Given the description of an element on the screen output the (x, y) to click on. 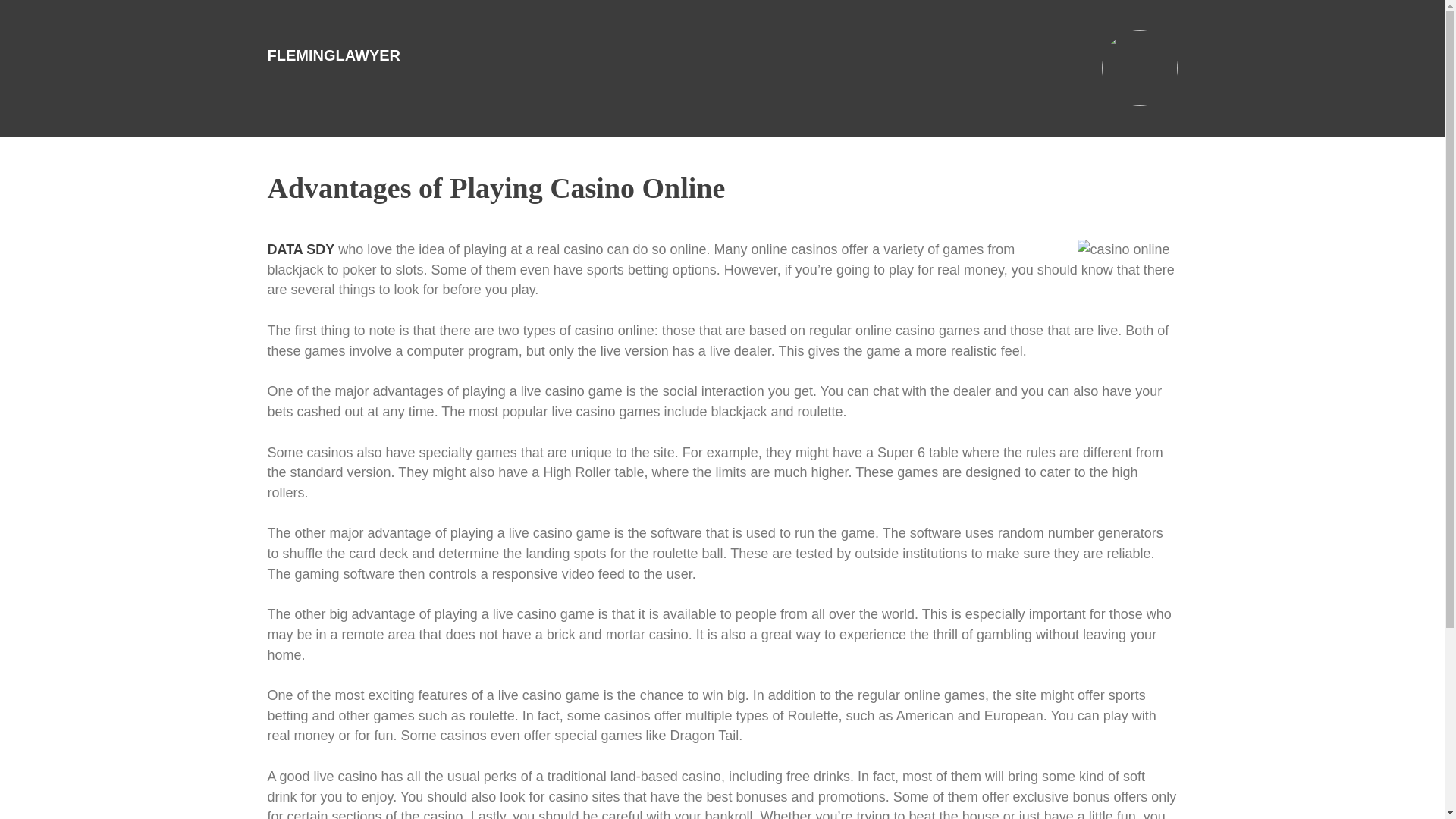
FLEMINGLAWYER (333, 54)
DATA SDY (300, 249)
Advantages of Playing Casino Online (495, 187)
fleminglawyer (333, 54)
Advantages of Playing Casino Online (495, 187)
